Given the description of an element on the screen output the (x, y) to click on. 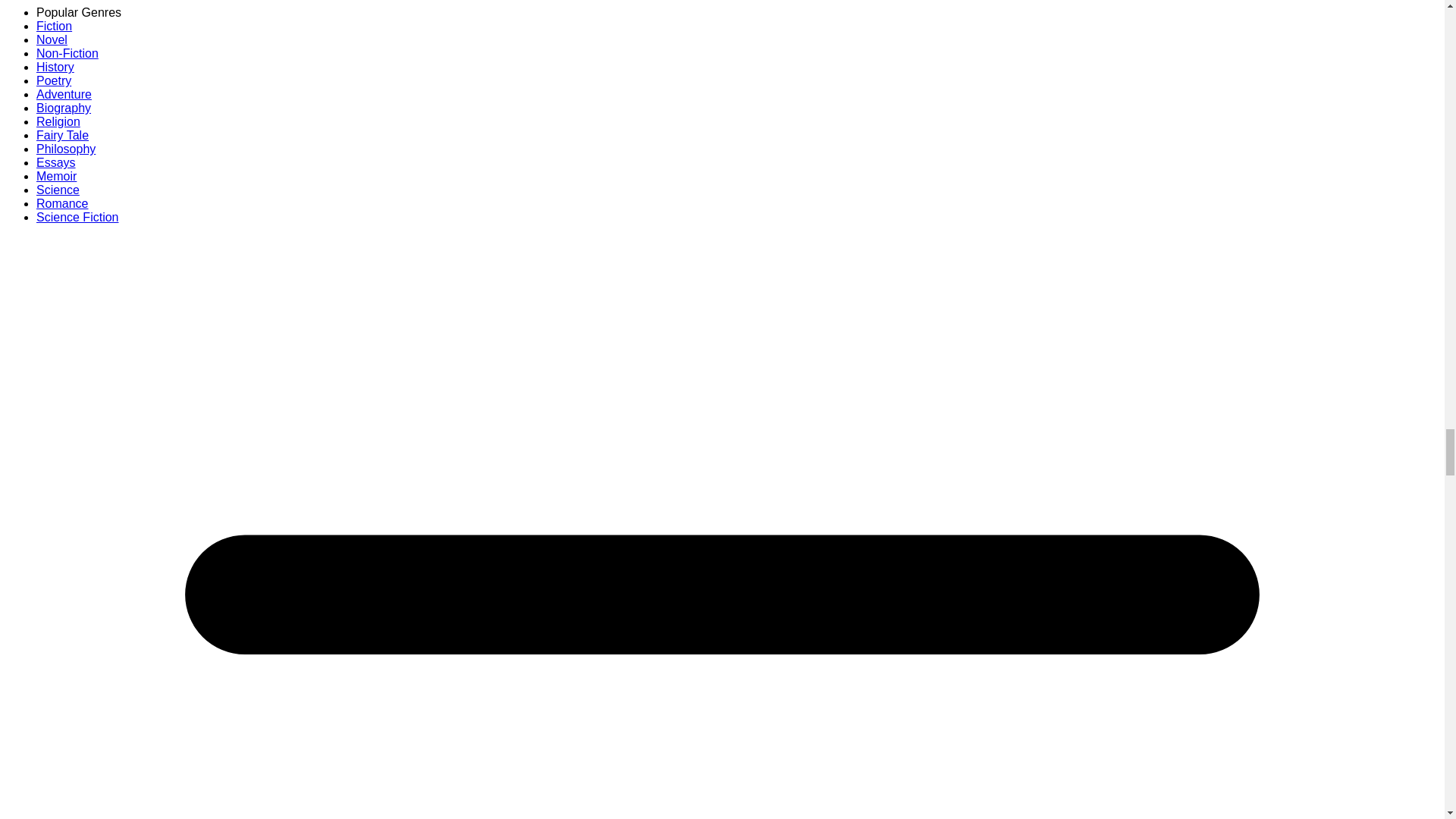
Novel (51, 39)
History (55, 66)
Adventure (63, 93)
Fairy Tale (62, 134)
Science Fiction (77, 216)
Essays (55, 162)
Romance (61, 203)
Non-Fiction (67, 52)
Biography (63, 107)
Philosophy (66, 148)
Religion (58, 121)
Poetry (53, 80)
Science (58, 189)
Memoir (56, 175)
Fiction (53, 25)
